Given the description of an element on the screen output the (x, y) to click on. 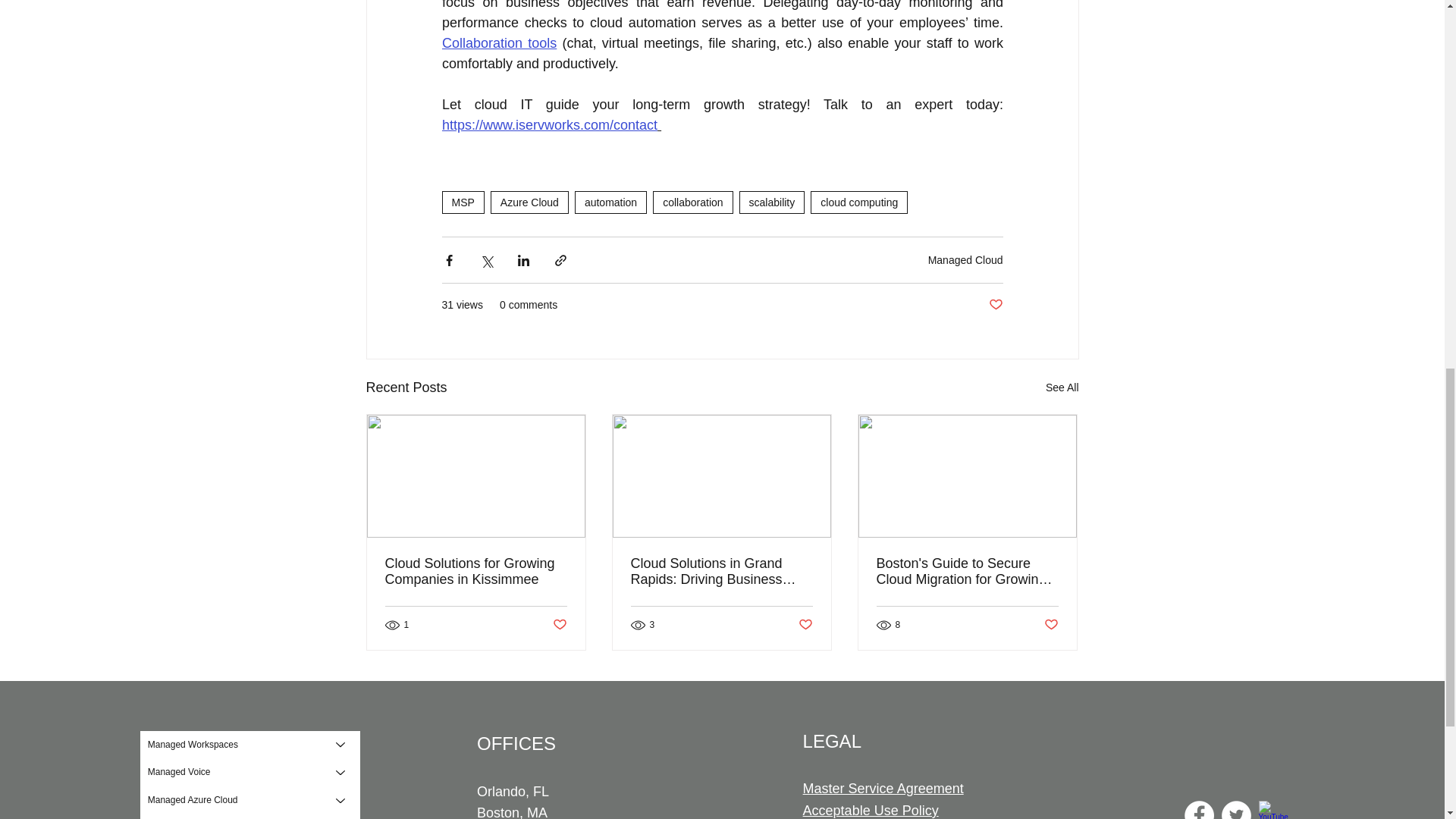
Managed Workspaces (231, 745)
